Given the description of an element on the screen output the (x, y) to click on. 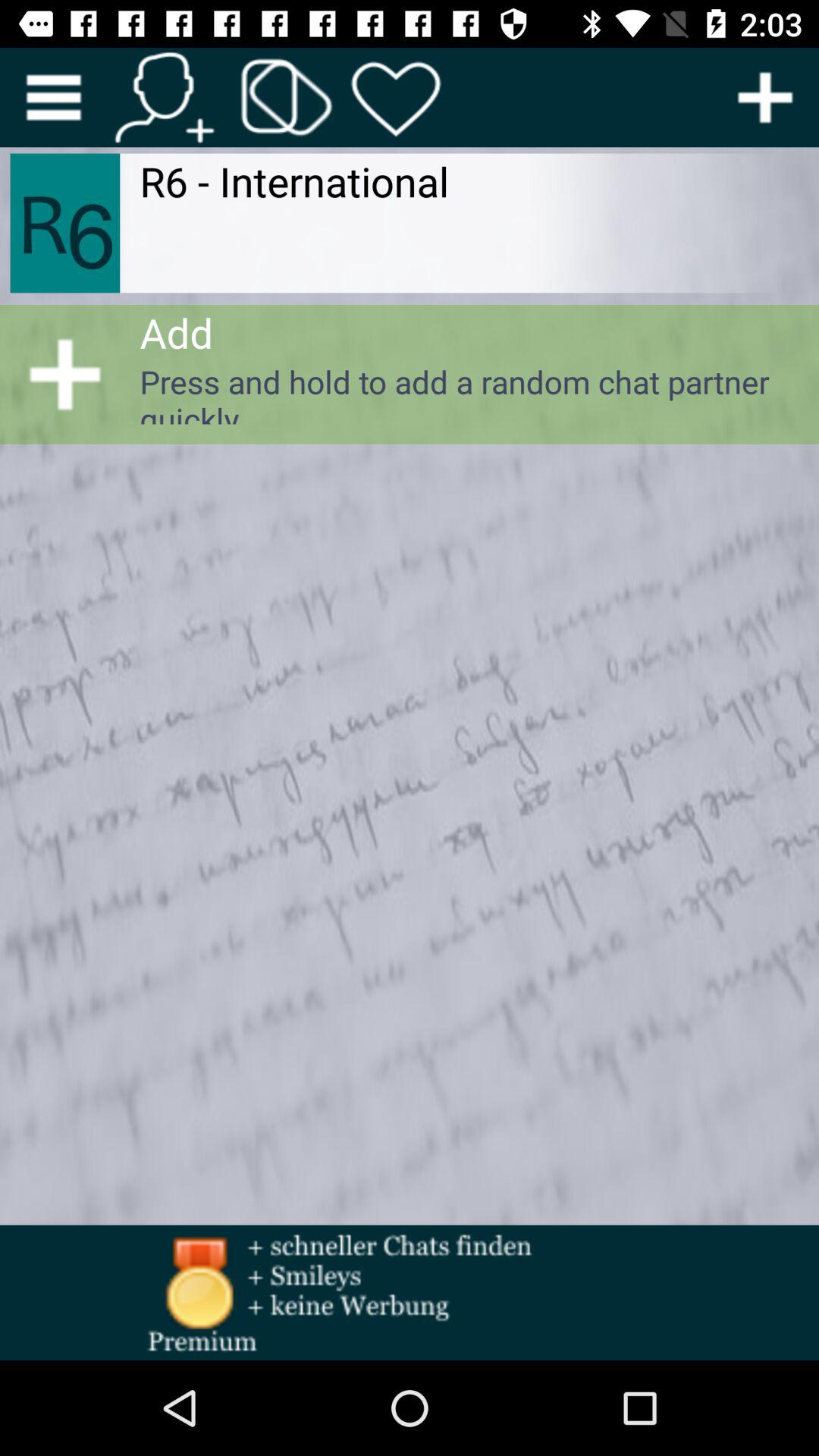
contention (164, 97)
